Given the description of an element on the screen output the (x, y) to click on. 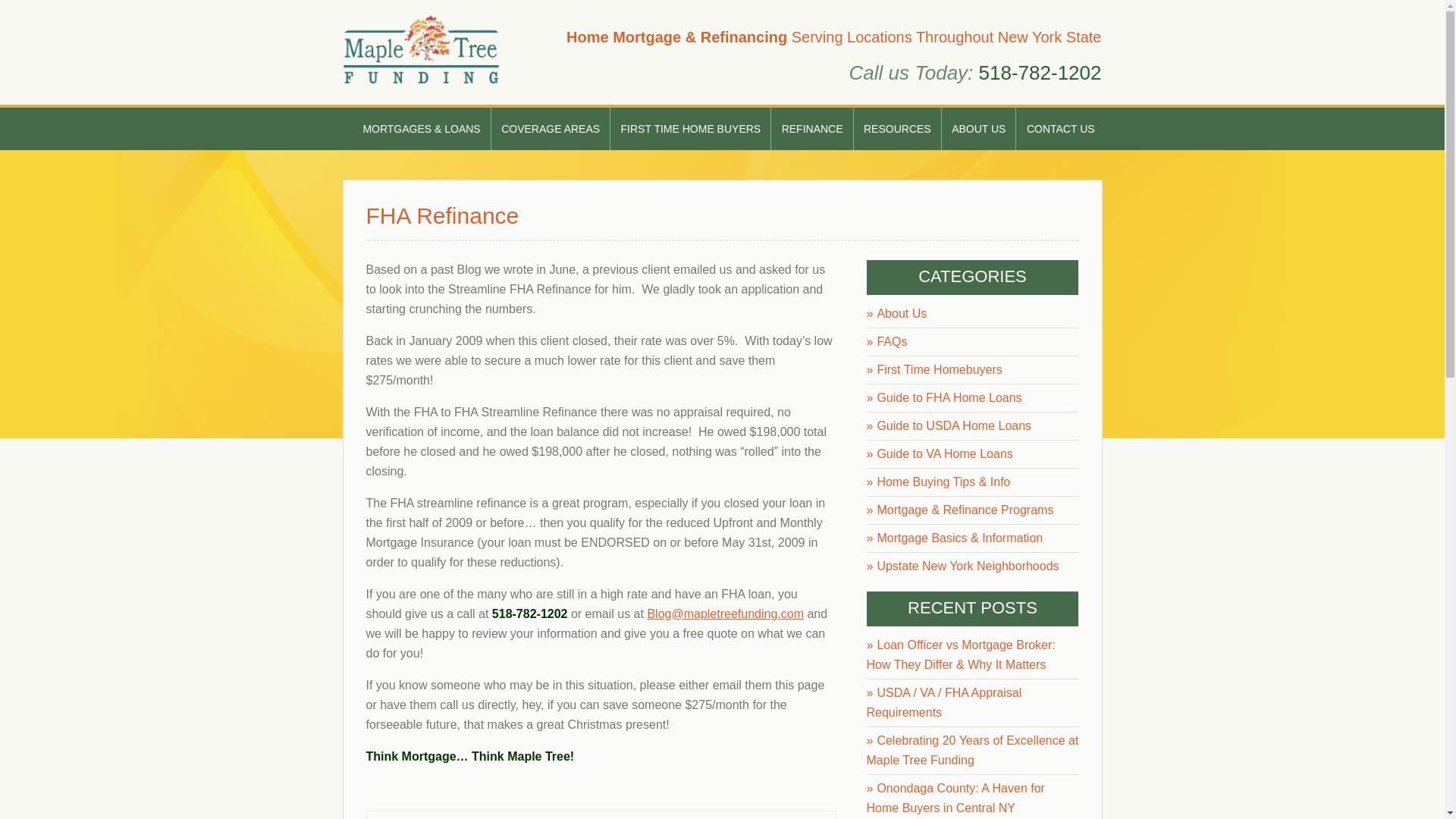
COVERAGE AREAS (551, 128)
518-782-1202 (1040, 72)
FIRST TIME HOME BUYERS (691, 128)
